Given the description of an element on the screen output the (x, y) to click on. 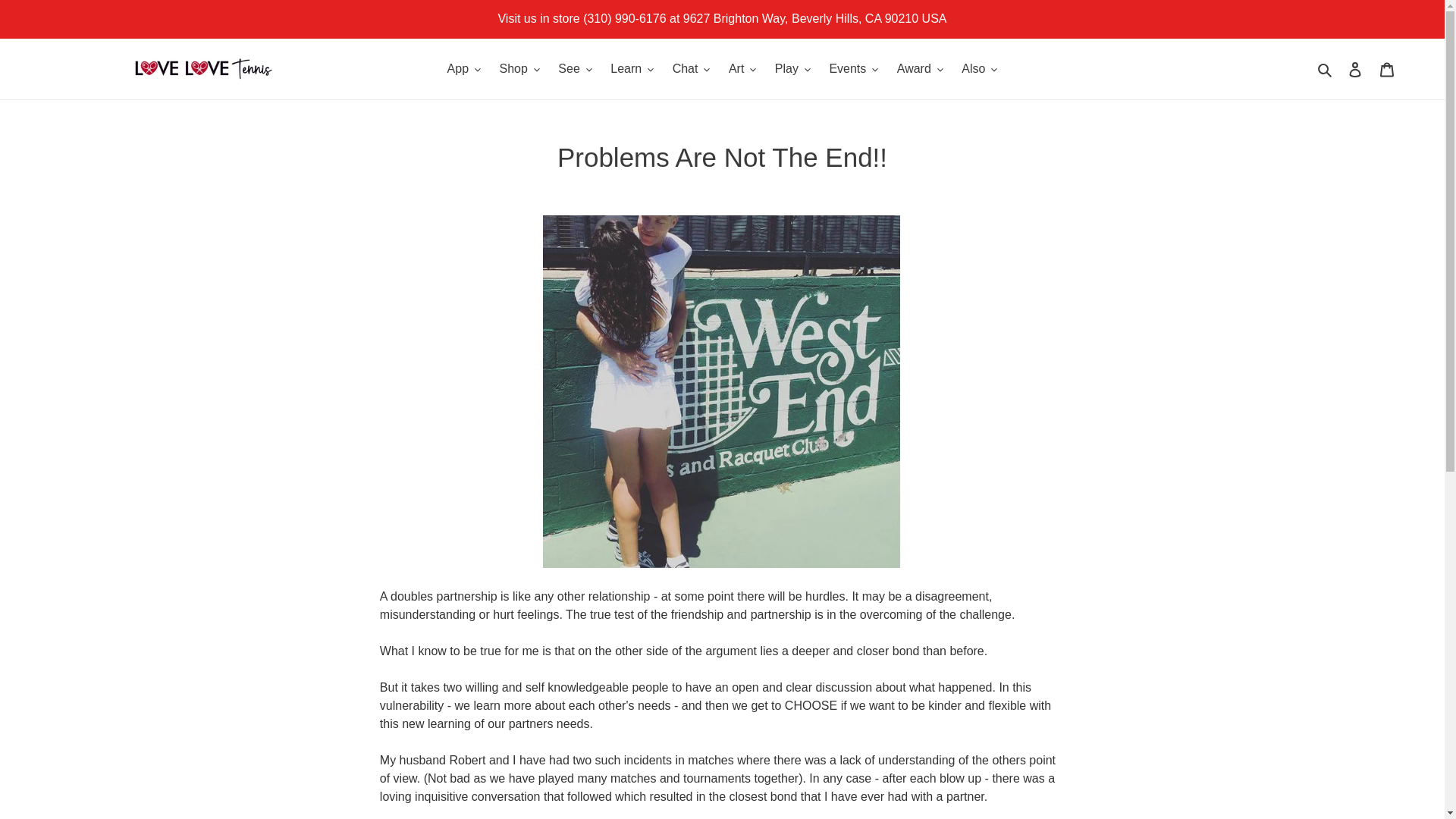
Chat (691, 68)
Shop (519, 68)
Art (741, 68)
App (463, 68)
See (574, 68)
Learn (631, 68)
